Given the description of an element on the screen output the (x, y) to click on. 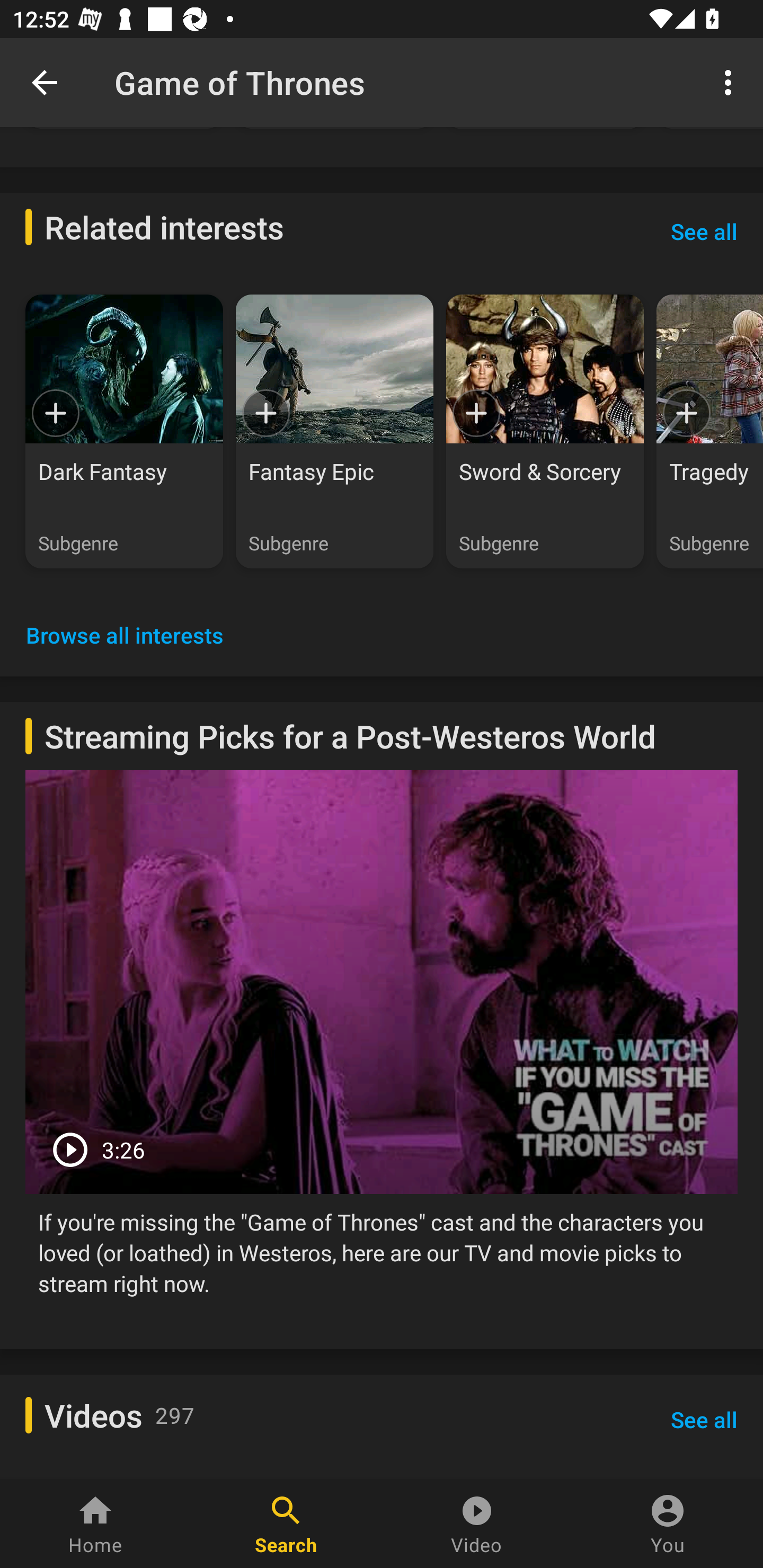
More options (731, 81)
See all See all Related interests (703, 230)
Dark Fantasy Subgenre (123, 430)
Fantasy Epic Subgenre (334, 430)
Sword & Sorcery Subgenre (544, 430)
Browse all interests (124, 634)
See all See all Videos (703, 1419)
Home (95, 1523)
Video (476, 1523)
You (667, 1523)
